Given the description of an element on the screen output the (x, y) to click on. 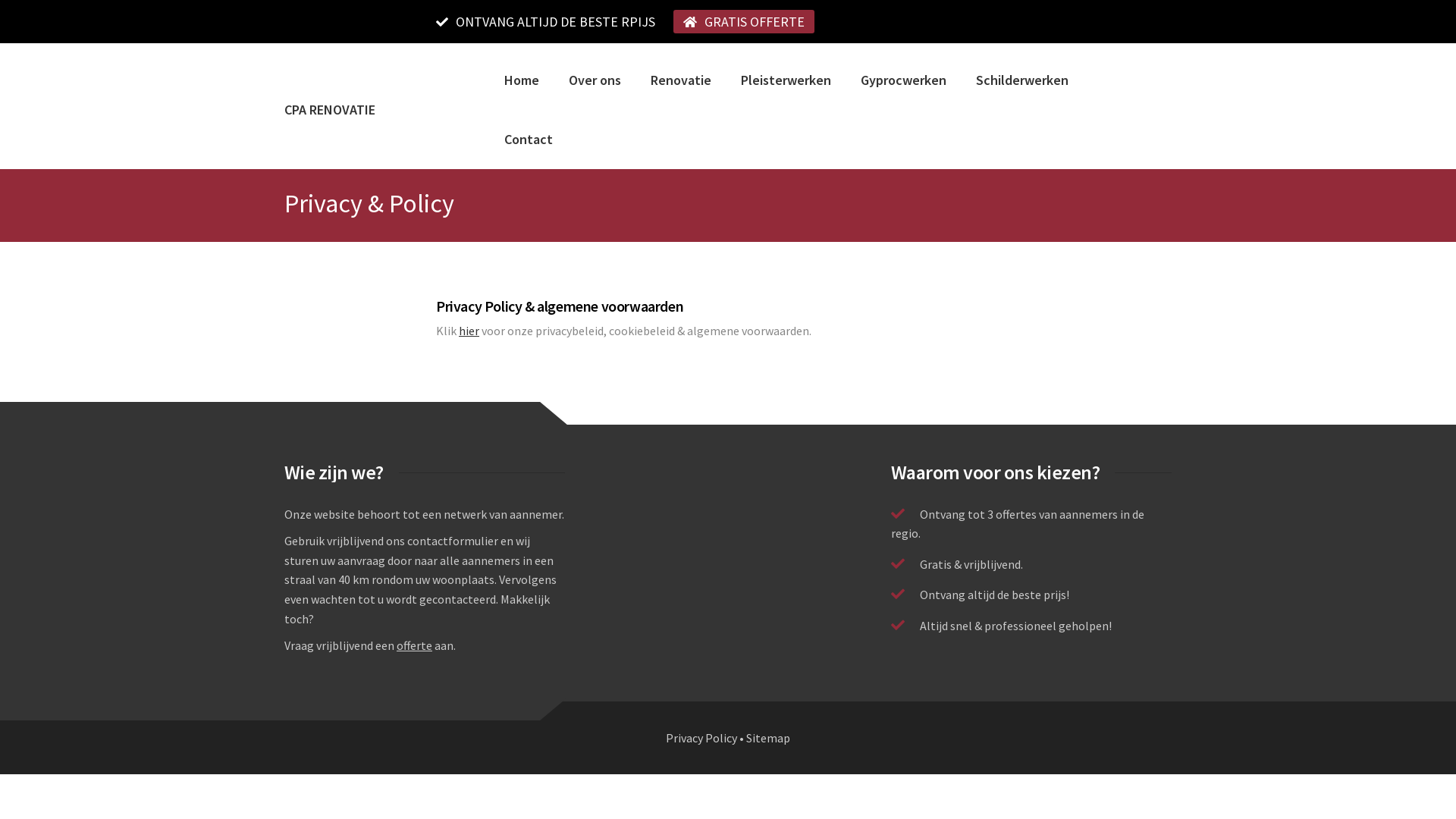
Sitemap Element type: text (768, 737)
offerte Element type: text (414, 644)
Contact Element type: text (530, 139)
Privacy Policy Element type: text (701, 737)
Pleisterwerken Element type: text (787, 79)
Schilderwerken Element type: text (1023, 79)
Renovatie Element type: text (682, 79)
Over ons Element type: text (596, 79)
hier Element type: text (468, 330)
CPA RENOVATIE Element type: text (329, 109)
Gyprocwerken Element type: text (905, 79)
Home Element type: text (523, 79)
GRATIS OFFERTE Element type: text (754, 21)
